Given the description of an element on the screen output the (x, y) to click on. 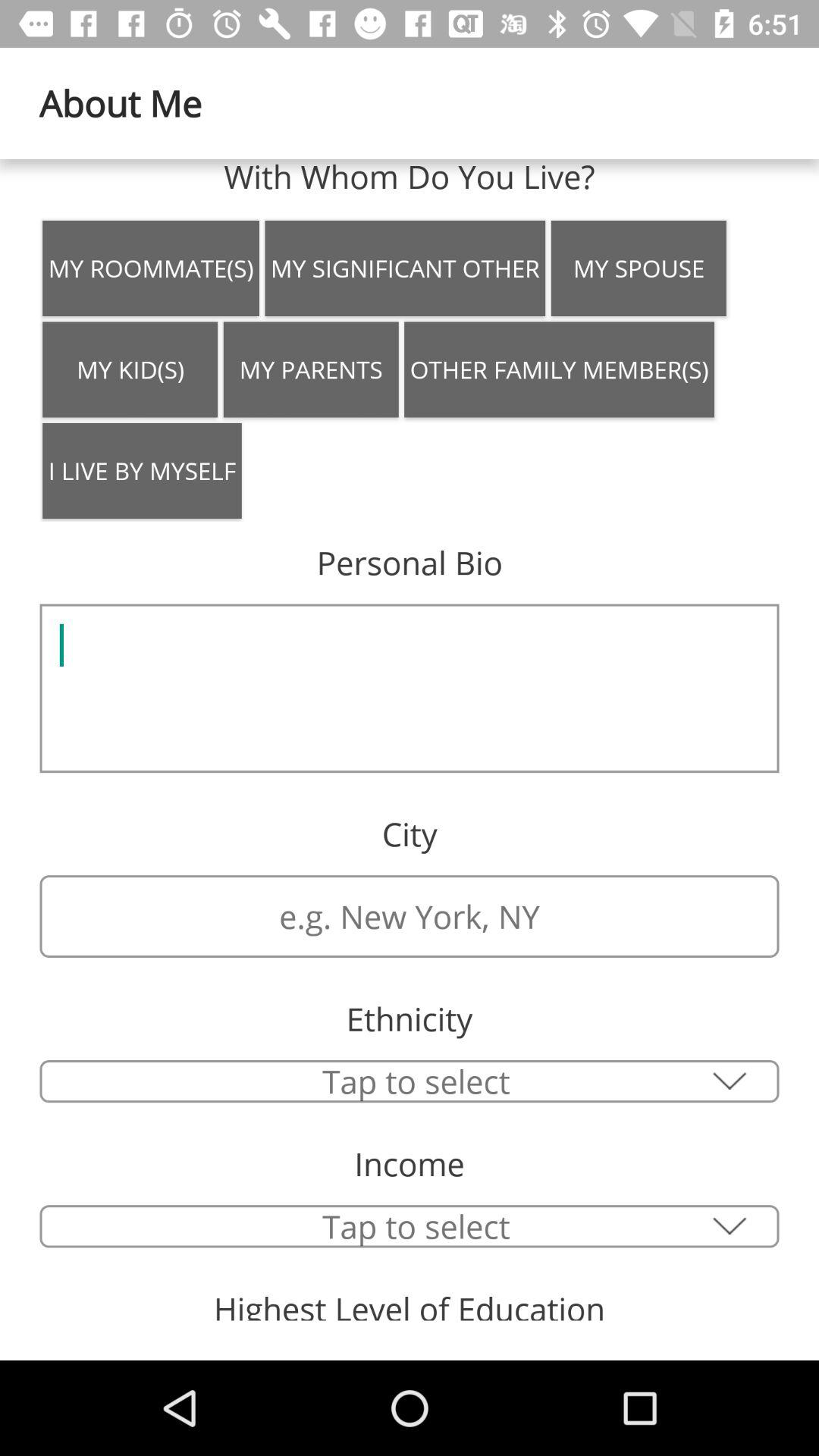
turn on the item to the right of my parents icon (559, 369)
